Given the description of an element on the screen output the (x, y) to click on. 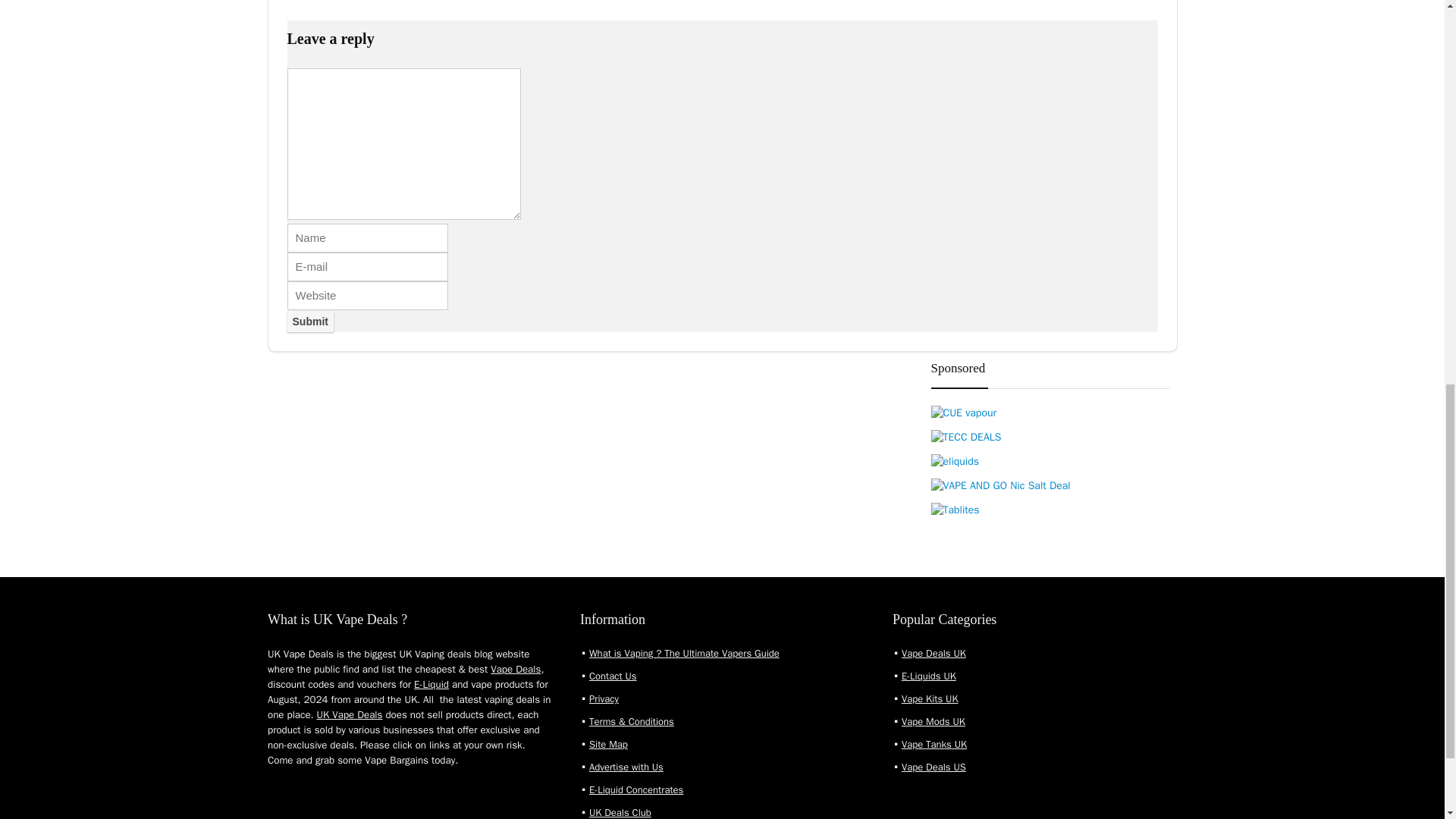
Submit (309, 321)
Submit (309, 321)
